Given the description of an element on the screen output the (x, y) to click on. 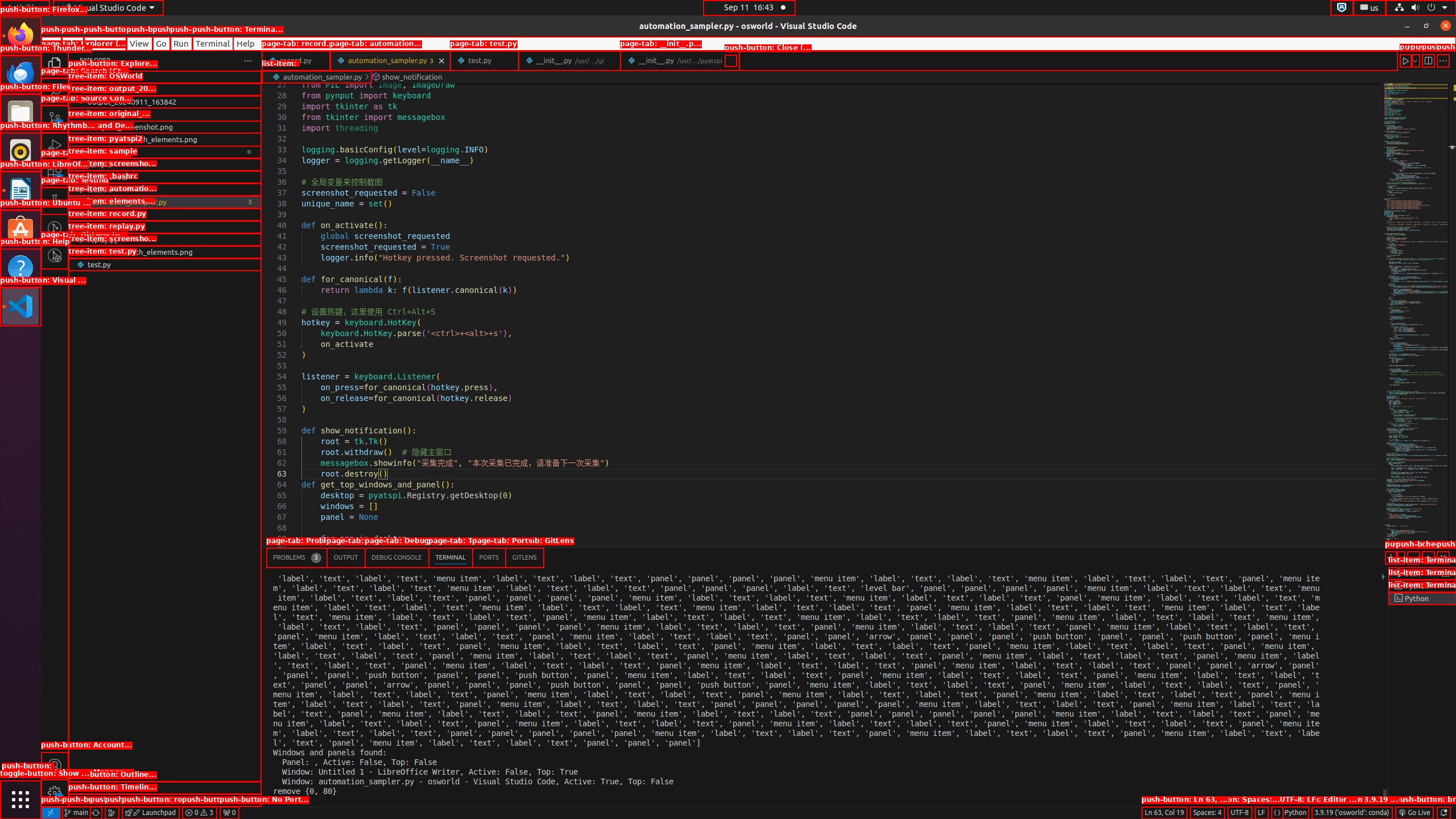
sample Element type: tree-item (164, 164)
Split Editor Right (Ctrl+\) [Alt] Split Editor Down Element type: push-button (1427, 60)
View Element type: push-button (139, 43)
Run Python File Element type: push-button (1405, 60)
More Actions... Element type: push-button (1442, 60)
